Given the description of an element on the screen output the (x, y) to click on. 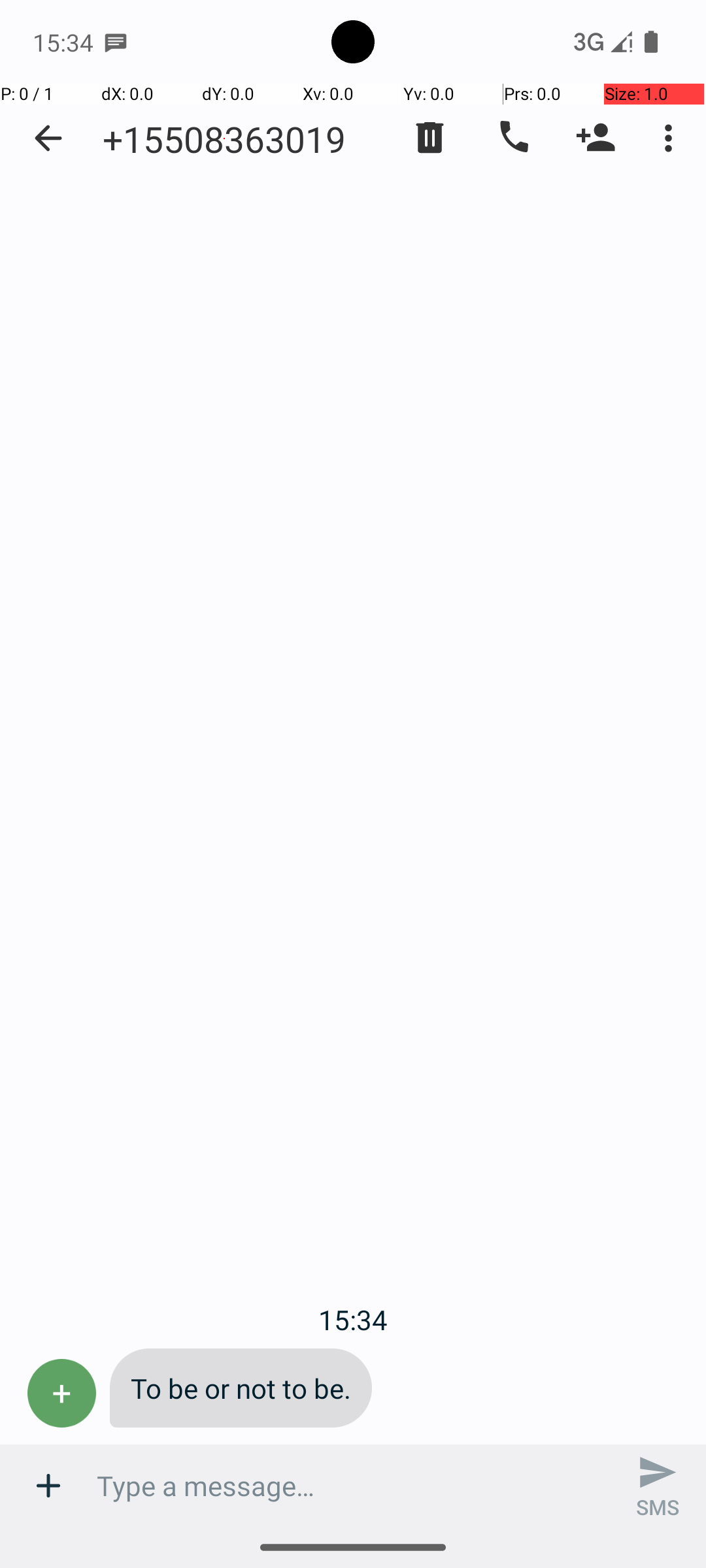
+15508363019 Element type: android.widget.TextView (223, 138)
To be or not to be. Element type: android.widget.TextView (240, 1387)
